Given the description of an element on the screen output the (x, y) to click on. 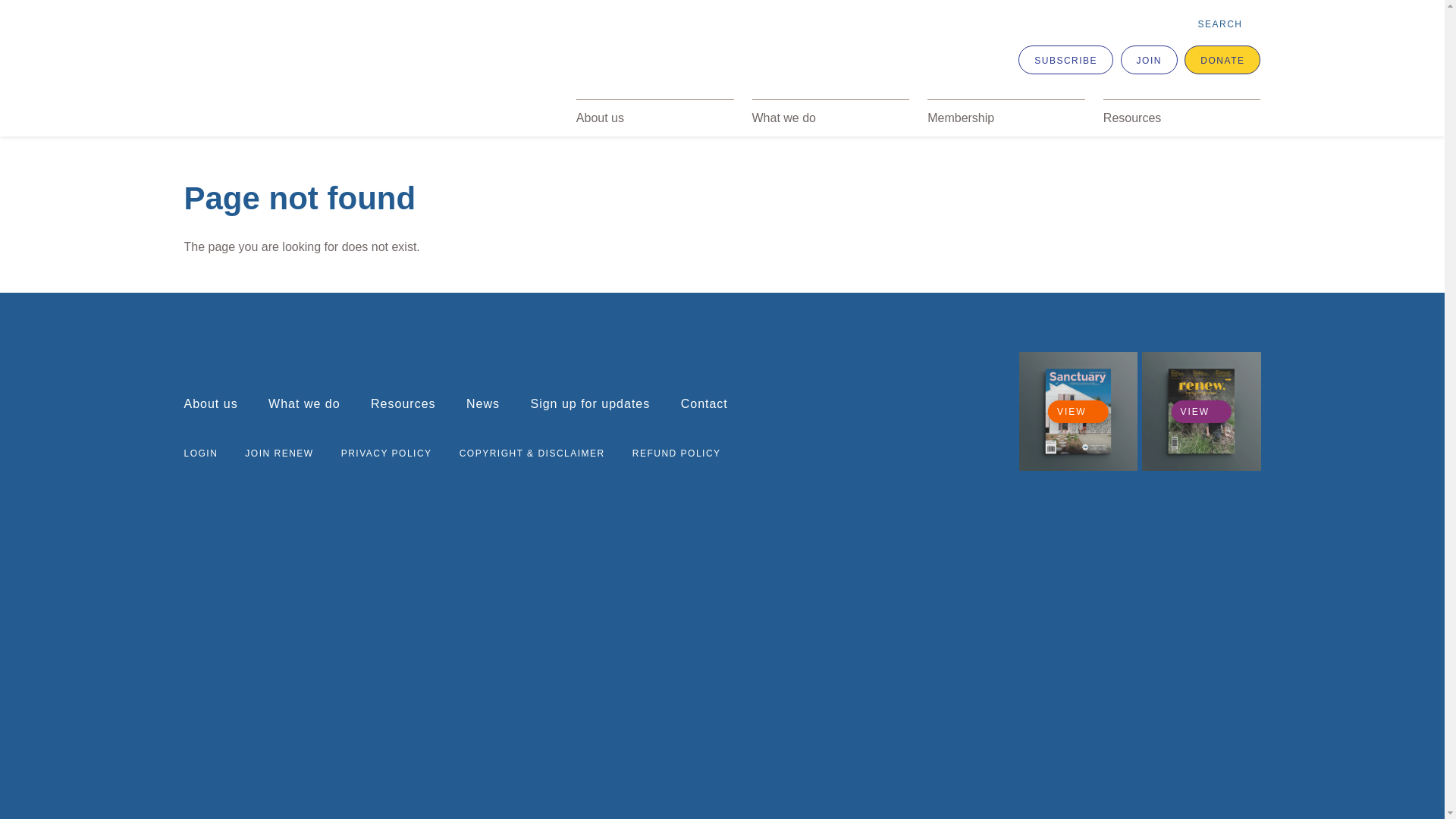
News Element type: text (482, 403)
YouTube Element type: hover (975, 446)
Contact Element type: text (704, 403)
About us Element type: text (210, 403)
HOME Element type: text (201, 122)
Back to home Element type: hover (347, 73)
About us Element type: text (655, 117)
Instagram Element type: hover (922, 446)
What we do Element type: text (831, 117)
SEARCH Element type: text (1228, 24)
Twitter Element type: hover (870, 446)
PRIVACY POLICY Element type: text (386, 453)
LOGIN Element type: text (200, 453)
Resources Element type: text (1182, 117)
Sign up for updates Element type: text (589, 403)
Resources Element type: text (402, 403)
COPYRIGHT & DISCLAIMER Element type: text (532, 453)
Back to home Element type: hover (237, 352)
VIEW Element type: text (1200, 411)
Membership Element type: text (1006, 117)
REFUND POLICY Element type: text (676, 453)
JOIN Element type: text (1148, 59)
DONATE Element type: text (1222, 59)
What we do Element type: text (303, 403)
SUBSCRIBE Element type: text (1065, 59)
VIEW Element type: text (1078, 411)
Facebook Element type: hover (819, 446)
JOIN RENEW Element type: text (278, 453)
